Given the description of an element on the screen output the (x, y) to click on. 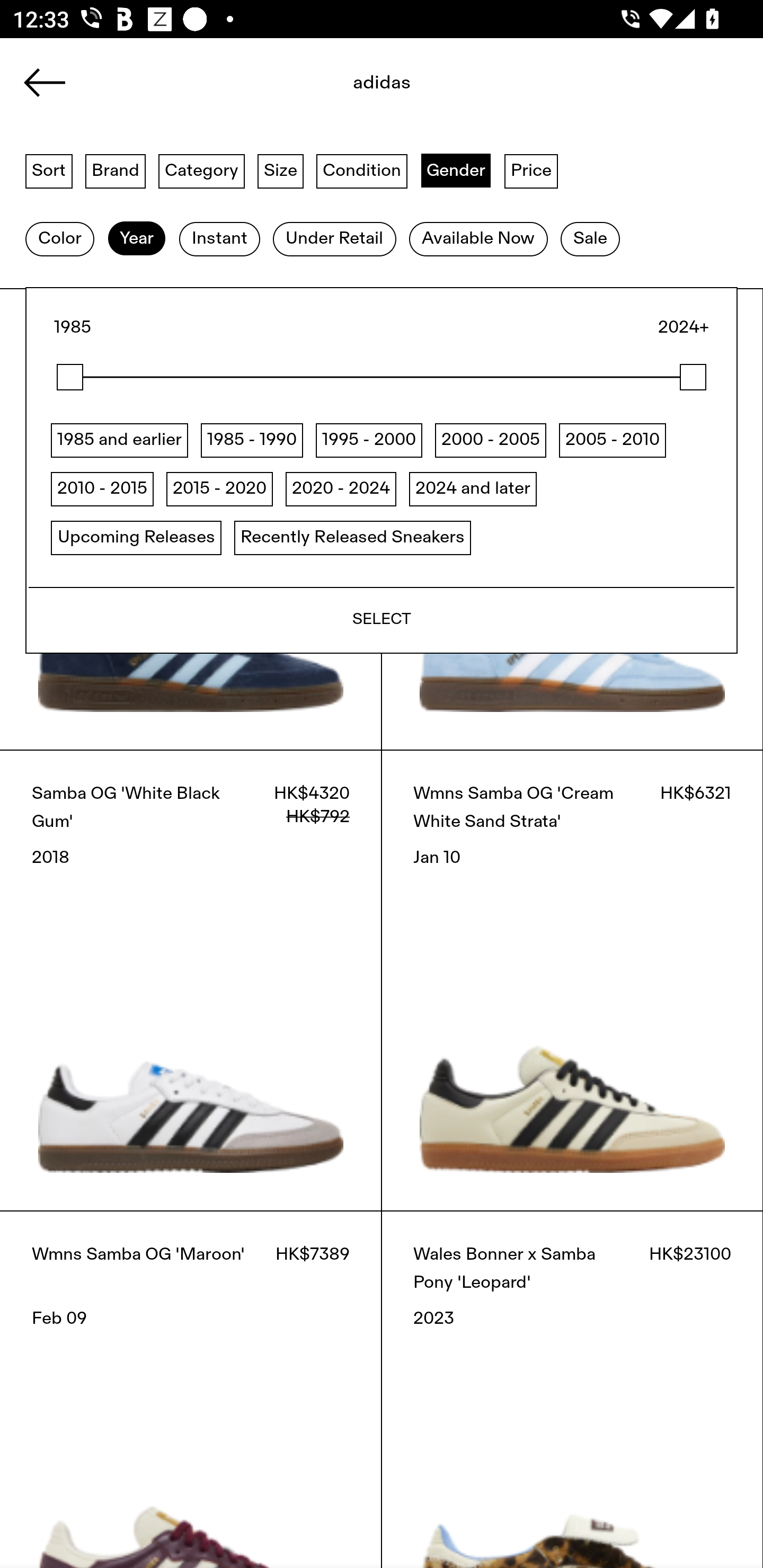
flats (381, 88)
Sort (48, 170)
Brand (115, 170)
Category (201, 170)
Size (280, 170)
Condition (361, 170)
Gender (455, 170)
Price (530, 170)
Color (59, 239)
Year (136, 239)
Instant (219, 239)
Under Retail (334, 239)
Available Now (477, 239)
Sale (589, 239)
1985.0 Range start,1985 2024.0 Range end,2024 (381, 376)
1985 and earlier (119, 439)
1985 - 1990 (251, 439)
1995 - 2000 (368, 439)
2000 - 2005 (490, 439)
2005 - 2010 (612, 439)
2010 - 2015 (102, 488)
2015 - 2020 (219, 488)
2020 - 2024 (340, 488)
2024 and later (472, 488)
Upcoming Releases (136, 537)
Recently Released Sneakers (352, 537)
Samba OG 'White Black Gum' HK$4320 HK$792 2018 (190, 979)
Wmns Samba OG 'Maroon' HK$7389 Feb 09 (190, 1389)
Wales Bonner x Samba Pony 'Leopard' HK$23100 2023 (572, 1389)
